Given the description of an element on the screen output the (x, y) to click on. 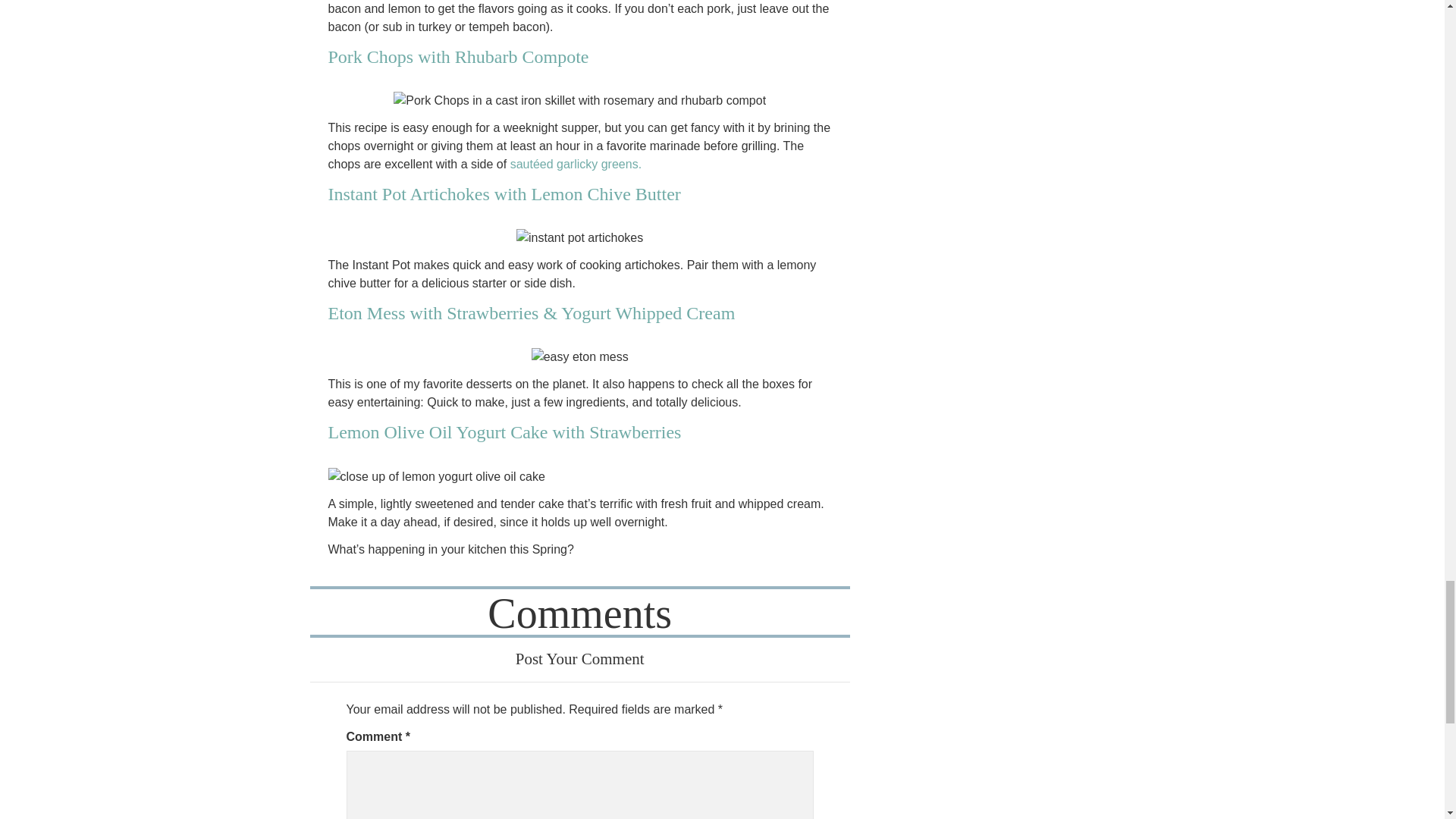
Instant Pot Artichokes with Lemon Chive Butter (503, 193)
Lemon Olive Oil Yogurt Cake with Strawberries (504, 432)
Pork Chops with Rhubarb Compote (457, 56)
